Given the description of an element on the screen output the (x, y) to click on. 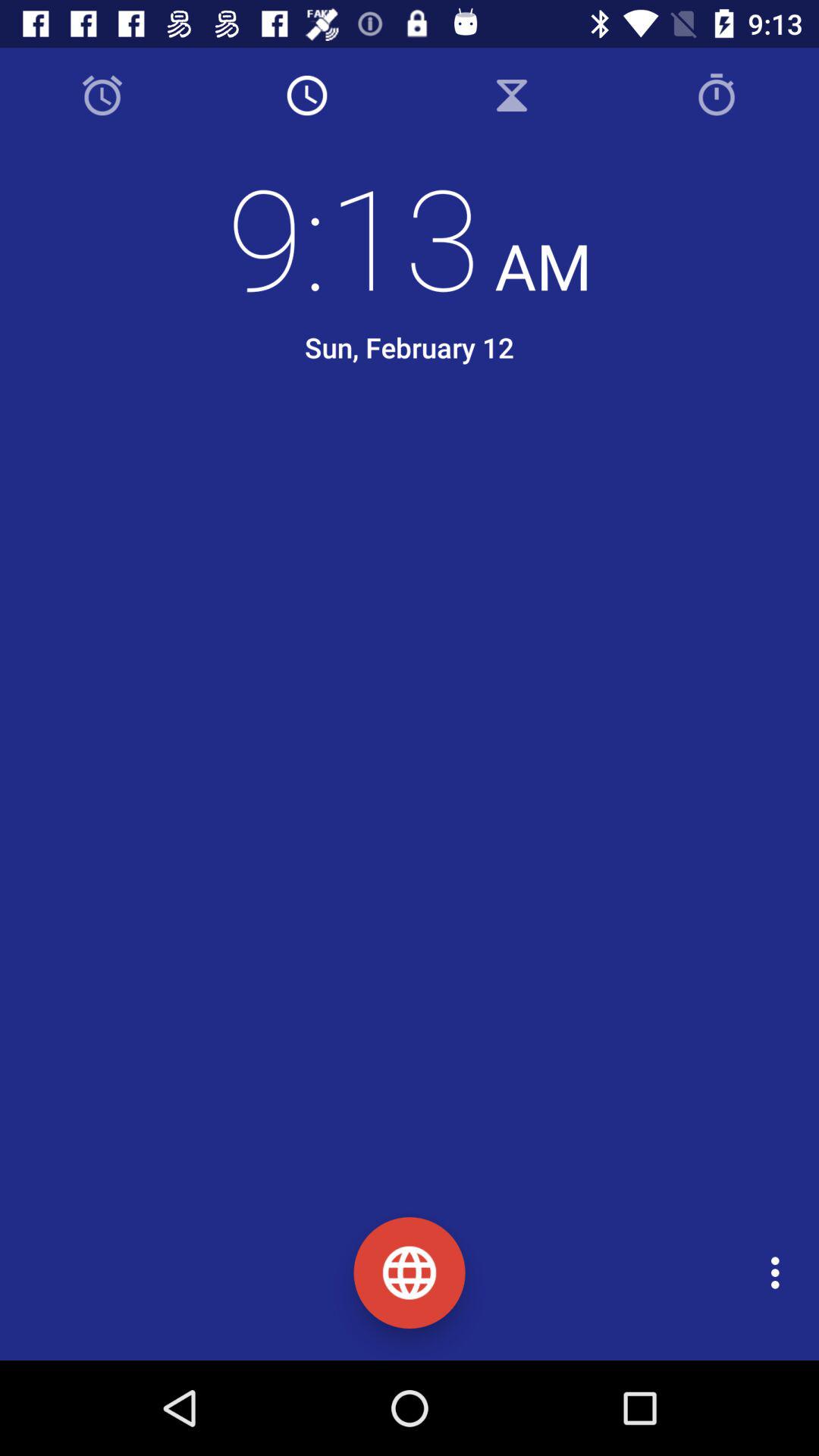
click the icon above the sun, february 12 icon (409, 235)
